Given the description of an element on the screen output the (x, y) to click on. 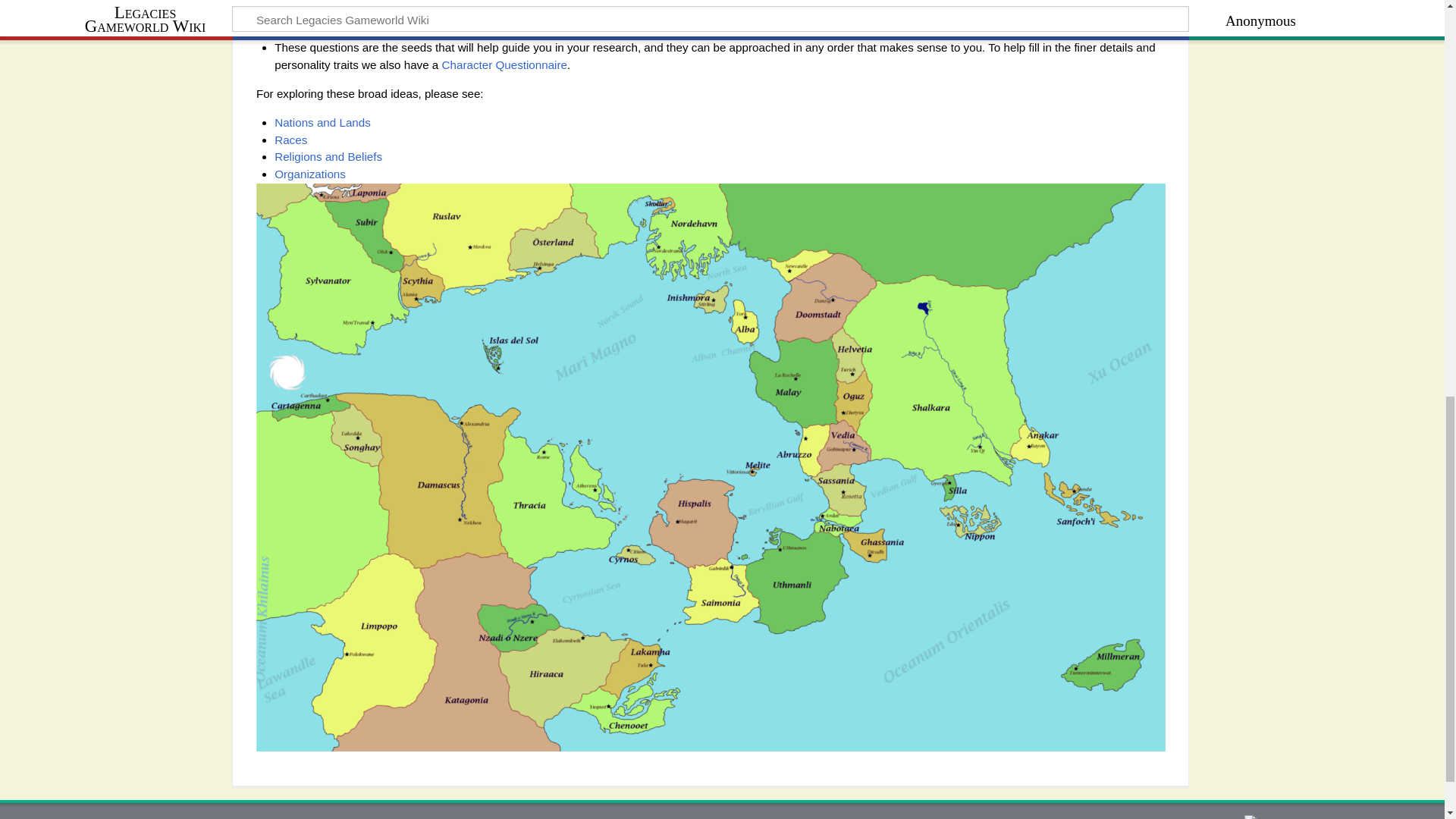
Races (291, 139)
Organizations (310, 173)
Races (291, 139)
Nations and Lands (323, 122)
Character Questionnaire (504, 64)
Nations and Lands (323, 122)
Religions and Beliefs (328, 155)
Religions and Beliefs (328, 155)
Character Questionnaire (504, 64)
